Given the description of an element on the screen output the (x, y) to click on. 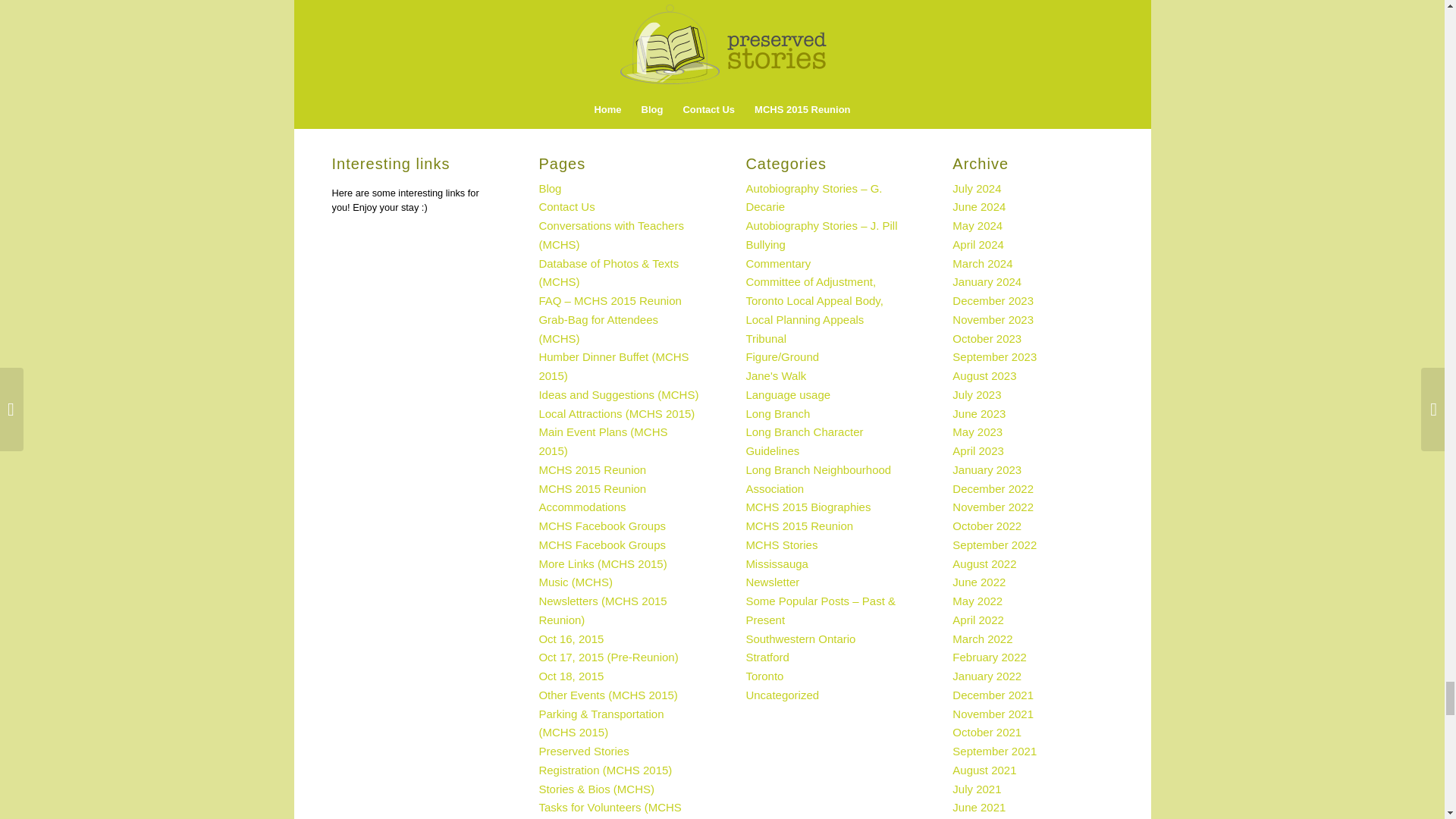
Post Comment (381, 32)
